Given the description of an element on the screen output the (x, y) to click on. 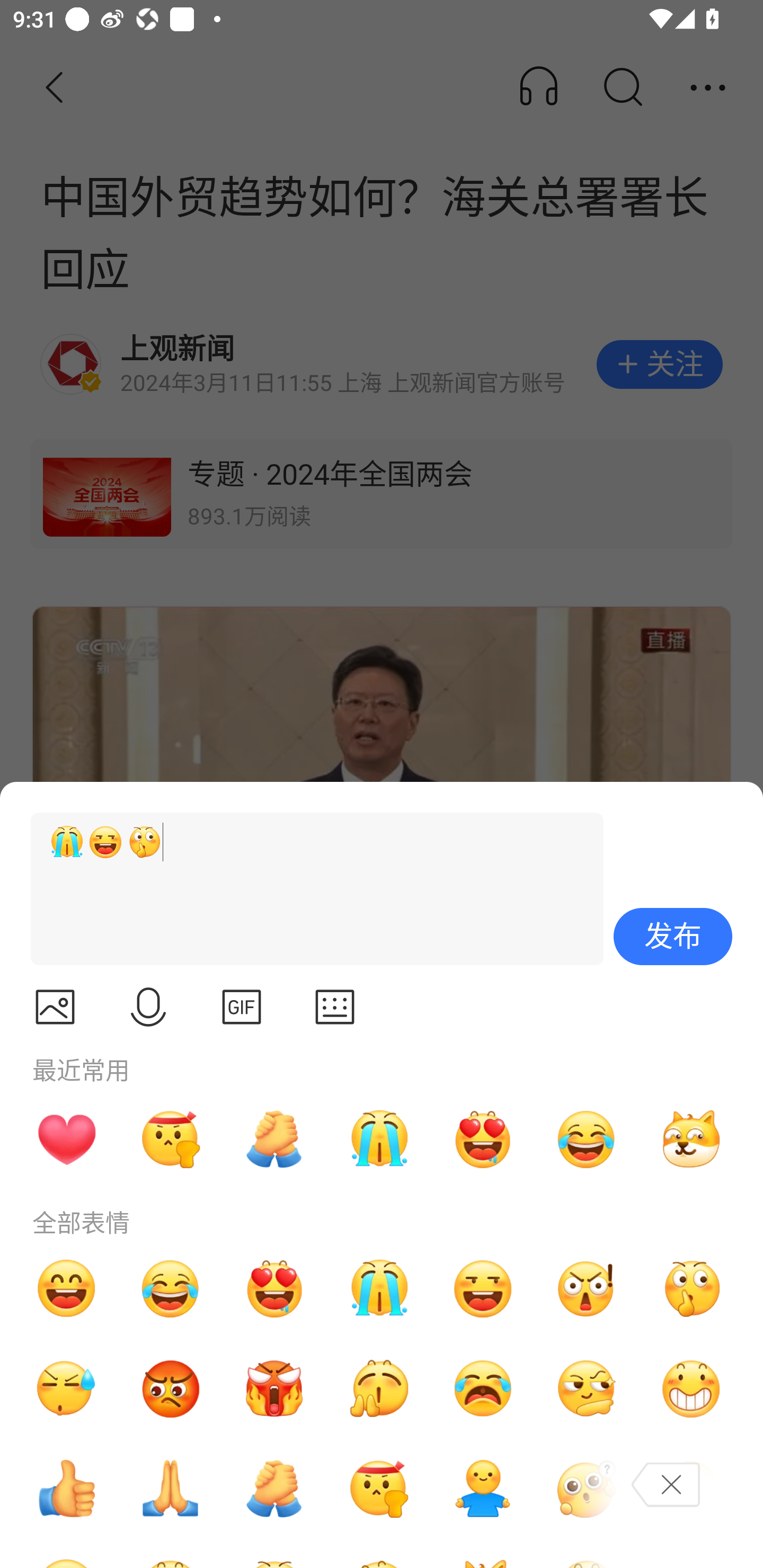
[哭][嘿嘿][嘘] (308, 888)
发布 (672, 936)
 (54, 1007)
 (148, 1007)
 (241, 1007)
 (334, 1007)
心 (66, 1138)
奋斗 (170, 1138)
加油 (274, 1138)
哭 (378, 1138)
喜欢 (482, 1138)
哭笑 (586, 1138)
奸笑 (690, 1138)
哈哈 (66, 1288)
哭笑 (170, 1288)
喜欢 (274, 1288)
哭 (378, 1288)
嘿嘿 (482, 1288)
吃惊 (586, 1288)
嘘 (690, 1288)
汗 (66, 1389)
生气 (170, 1389)
愤怒 (274, 1389)
喝彩 (378, 1389)
抓狂 (482, 1389)
机智 (586, 1389)
坏笑 (690, 1389)
点赞 (66, 1488)
缅怀 (170, 1488)
加油 (274, 1488)
奋斗 (378, 1488)
抱抱 (482, 1488)
疑问 (586, 1488)
捂脸 (690, 1488)
